Given the description of an element on the screen output the (x, y) to click on. 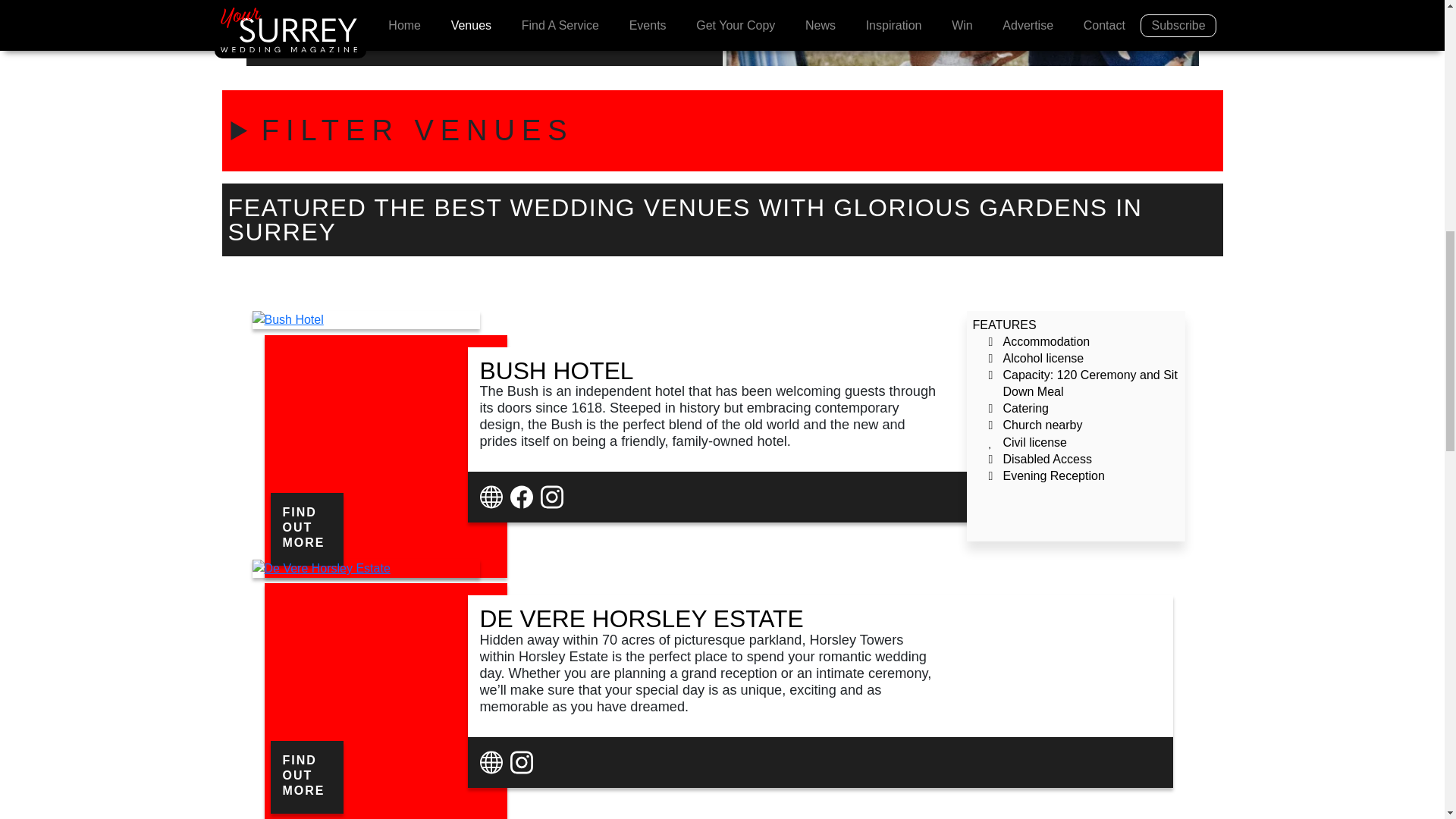
Bush Hotel (287, 318)
See the Bush Hotel website (492, 496)
See the Bush Hotel page on Instagram (553, 496)
View the Bush Hotel profile (305, 529)
See the Bush Hotel page on Facebook (524, 496)
Discover more about Bush Hotel (556, 372)
FIND OUT MORE (305, 777)
FIND OUT MORE (305, 529)
View the De Vere Horsley Estate profile (305, 777)
DE VERE HORSLEY ESTATE (641, 619)
